Given the description of an element on the screen output the (x, y) to click on. 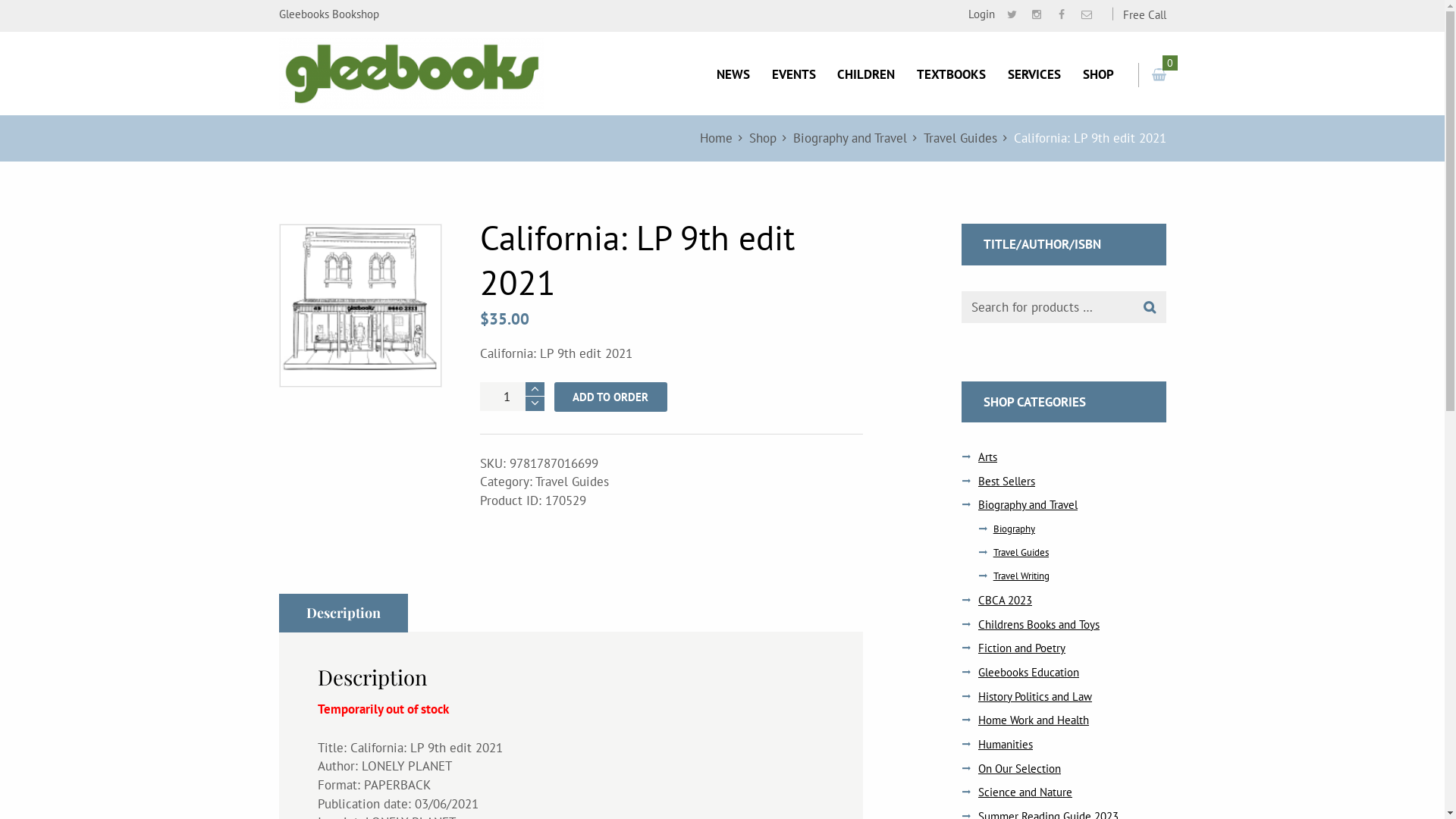
Gleebooks Education Element type: text (1028, 672)
Description Element type: text (343, 612)
Childrens Books and Toys Element type: text (1038, 624)
SHOP Element type: text (1097, 73)
Home Work and Health Element type: text (1033, 719)
NEWS Element type: text (732, 73)
Biography and Travel Element type: text (1027, 504)
Biography and Travel Element type: text (849, 137)
Search for products: Element type: hover (1063, 307)
ADD TO ORDER Element type: text (610, 396)
Login Element type: text (975, 15)
Travel Guides Element type: text (1020, 552)
Travel Guides Element type: text (960, 137)
EVENTS Element type: text (793, 73)
Humanities Element type: text (1005, 744)
Travel Writing Element type: text (1021, 575)
CHILDREN Element type: text (865, 73)
Biography Element type: text (1014, 528)
TEXTBOOKS Element type: text (950, 73)
Science and Nature Element type: text (1025, 791)
SERVICES Element type: text (1033, 73)
Fiction and Poetry Element type: text (1021, 647)
History Politics and Law Element type: text (1035, 696)
On Our Selection Element type: text (1019, 768)
Arts Element type: text (987, 456)
Shop Element type: text (762, 137)
Best Sellers Element type: text (1006, 480)
Home Element type: text (715, 137)
Travel Guides Element type: text (571, 481)
CBCA 2023 Element type: text (1005, 600)
